Given the description of an element on the screen output the (x, y) to click on. 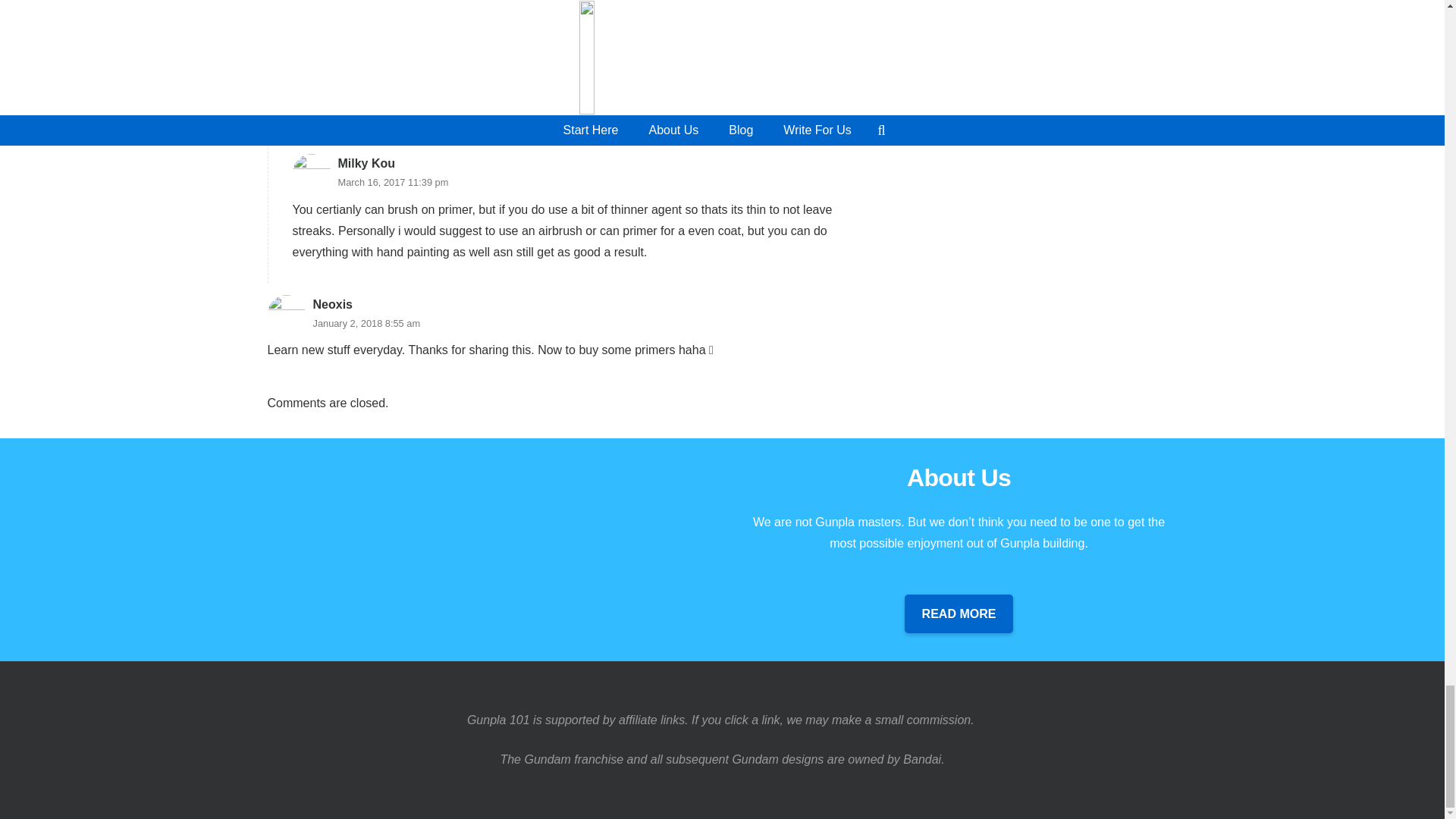
March 16, 2017 11:39 pm (392, 182)
January 2, 2018 8:55 am (366, 323)
March 17, 2017 1:49 am (465, 20)
March 16, 2017 11:39 pm (392, 182)
About Us (958, 613)
About Us (484, 473)
March 17, 2017 1:49 am (465, 20)
